Given the description of an element on the screen output the (x, y) to click on. 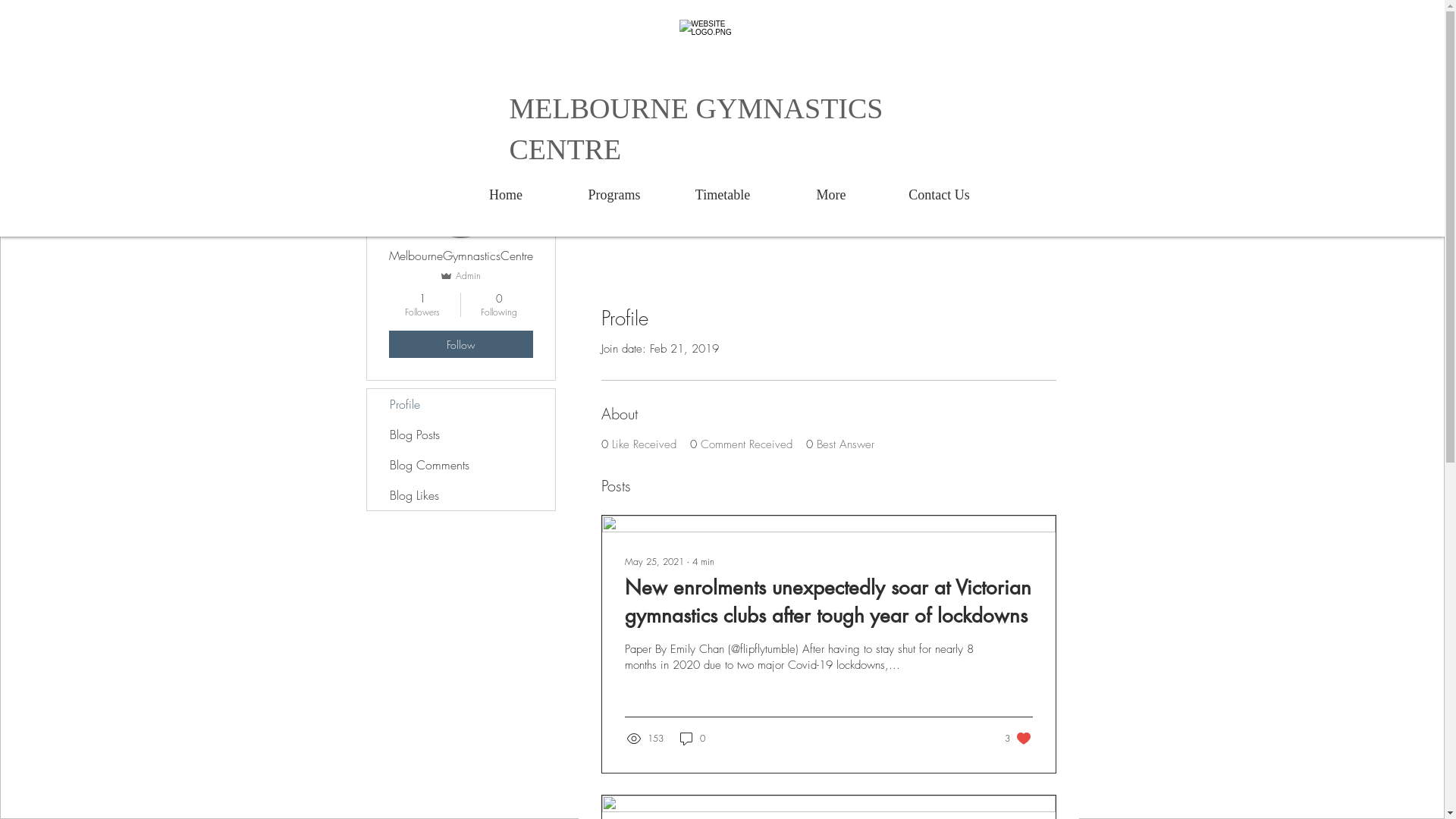
Programs Element type: text (613, 194)
3 Element type: text (1018, 738)
0
Following Element type: text (499, 304)
1
Followers Element type: text (421, 304)
Contact Us Element type: text (939, 194)
Blog Posts Element type: text (461, 434)
Blog Likes Element type: text (461, 495)
More Element type: text (830, 194)
Follow Element type: text (460, 343)
Timetable Element type: text (722, 194)
Blog Comments Element type: text (461, 464)
Home Element type: text (505, 194)
Profile Element type: text (461, 404)
